Given the description of an element on the screen output the (x, y) to click on. 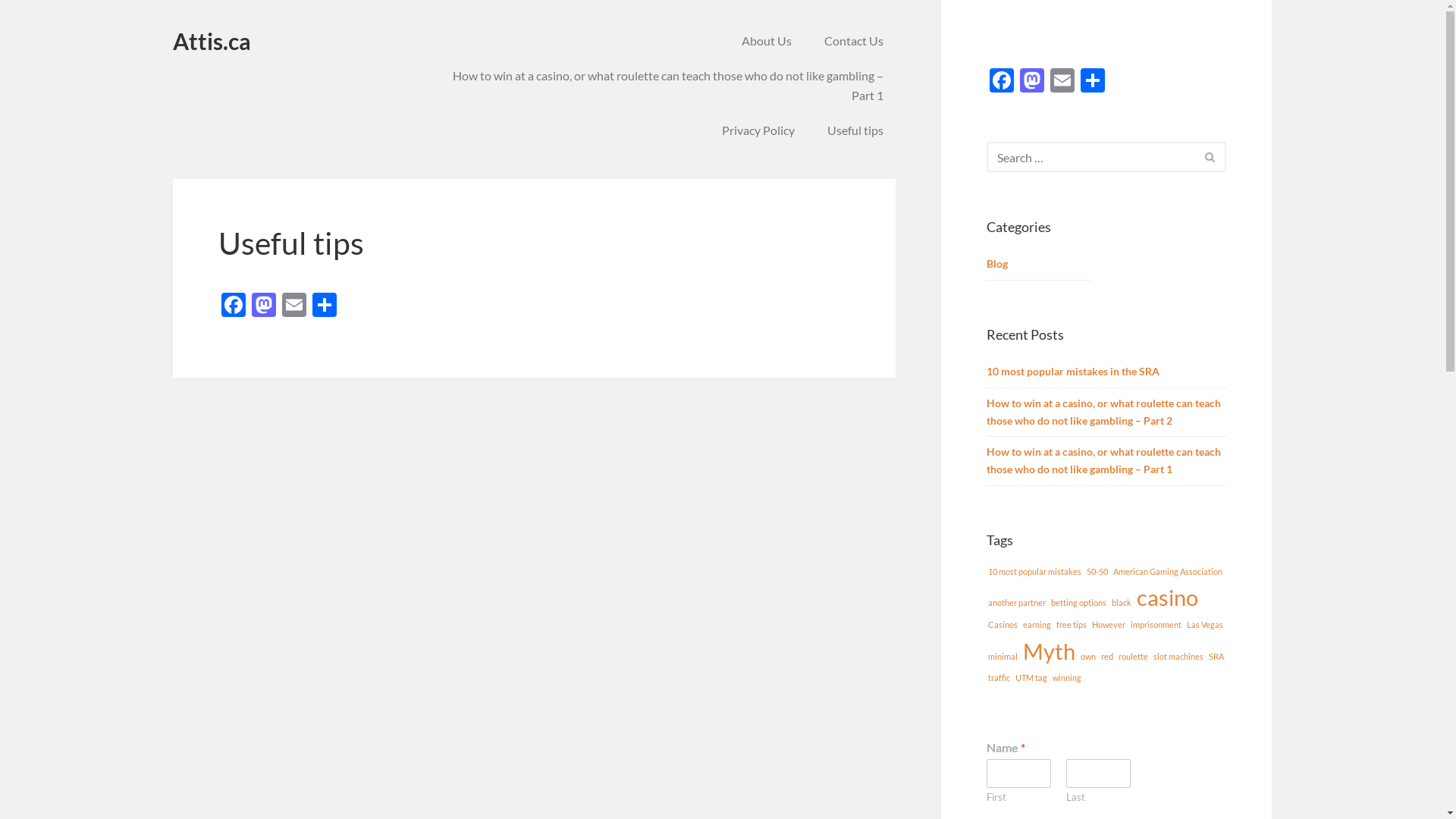
10 most popular mistakes in the SRA Element type: text (1106, 371)
Casinos Element type: text (1002, 624)
Blog Element type: text (996, 263)
Myth Element type: text (1048, 650)
red Element type: text (1106, 655)
American Gaming Association Element type: text (1167, 570)
Mastodon Element type: text (263, 306)
However Element type: text (1108, 624)
Mastodon Element type: text (1031, 81)
Facebook Element type: text (1001, 81)
Contact Us Element type: text (853, 40)
black Element type: text (1121, 602)
casino Element type: text (1167, 596)
minimal Element type: text (1002, 655)
winning Element type: text (1066, 677)
another partner Element type: text (1016, 602)
About Us Element type: text (766, 40)
50-50 Element type: text (1097, 570)
Useful tips Element type: text (854, 129)
10 most popular mistakes Element type: text (1034, 570)
roulette Element type: text (1133, 655)
Privacy Policy Element type: text (758, 129)
Attis.ca Element type: text (211, 40)
traffic Element type: text (998, 677)
slot machines Element type: text (1177, 655)
Share Element type: text (324, 306)
Search Element type: text (1212, 155)
Facebook Element type: text (233, 306)
Email Element type: text (1062, 81)
imprisonment Element type: text (1156, 624)
earning Element type: text (1036, 624)
Share Element type: text (1092, 81)
betting options Element type: text (1078, 602)
free tips Element type: text (1071, 624)
Email Element type: text (294, 306)
own Element type: text (1088, 655)
SRA Element type: text (1216, 655)
UTM tag Element type: text (1030, 677)
Las Vegas Element type: text (1204, 624)
